Given the description of an element on the screen output the (x, y) to click on. 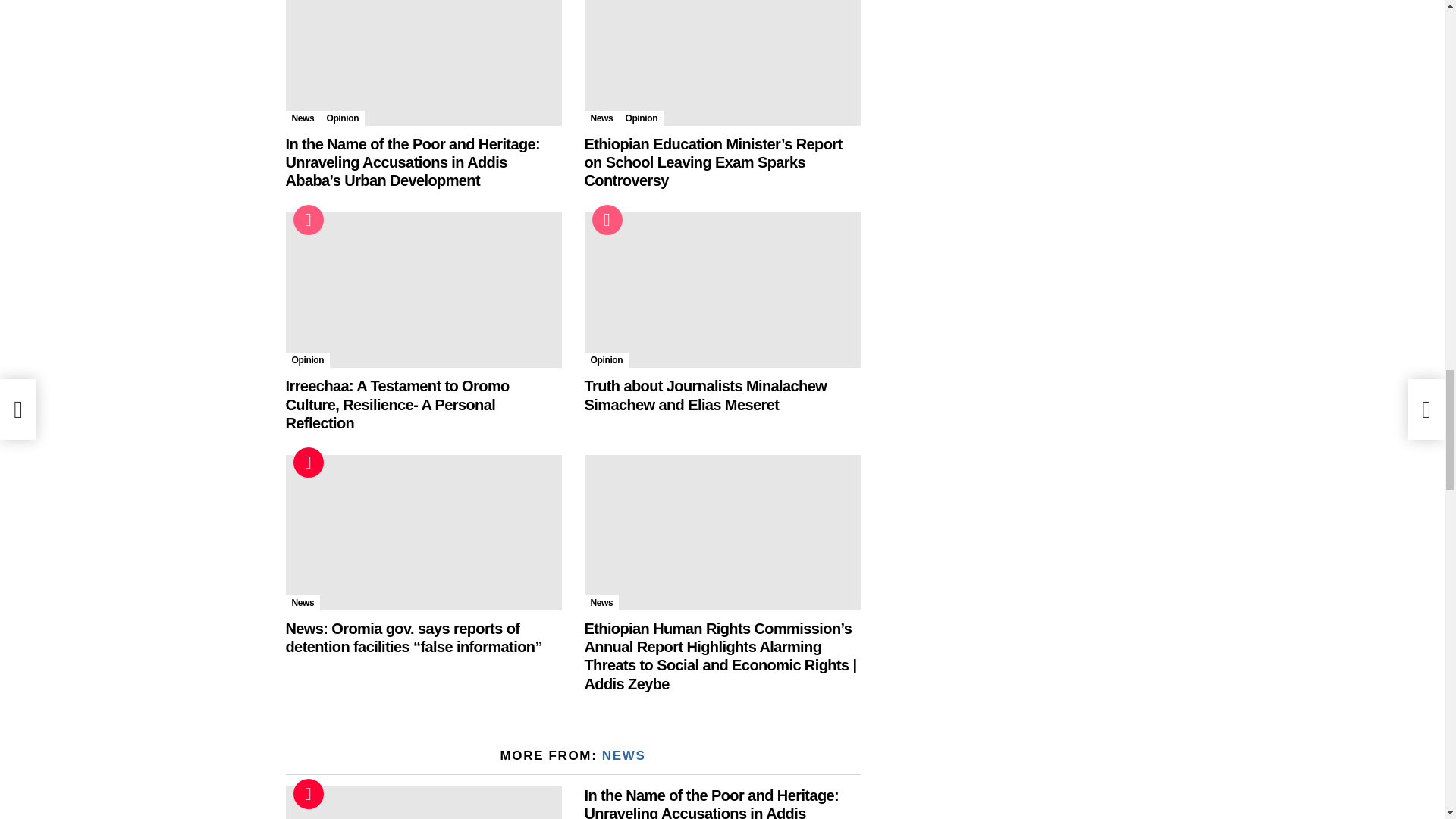
Hot (307, 462)
News (600, 118)
Opinion (640, 118)
Opinion (342, 118)
Popular (307, 219)
Popular (606, 219)
Popular (307, 219)
Opinion (307, 359)
